Given the description of an element on the screen output the (x, y) to click on. 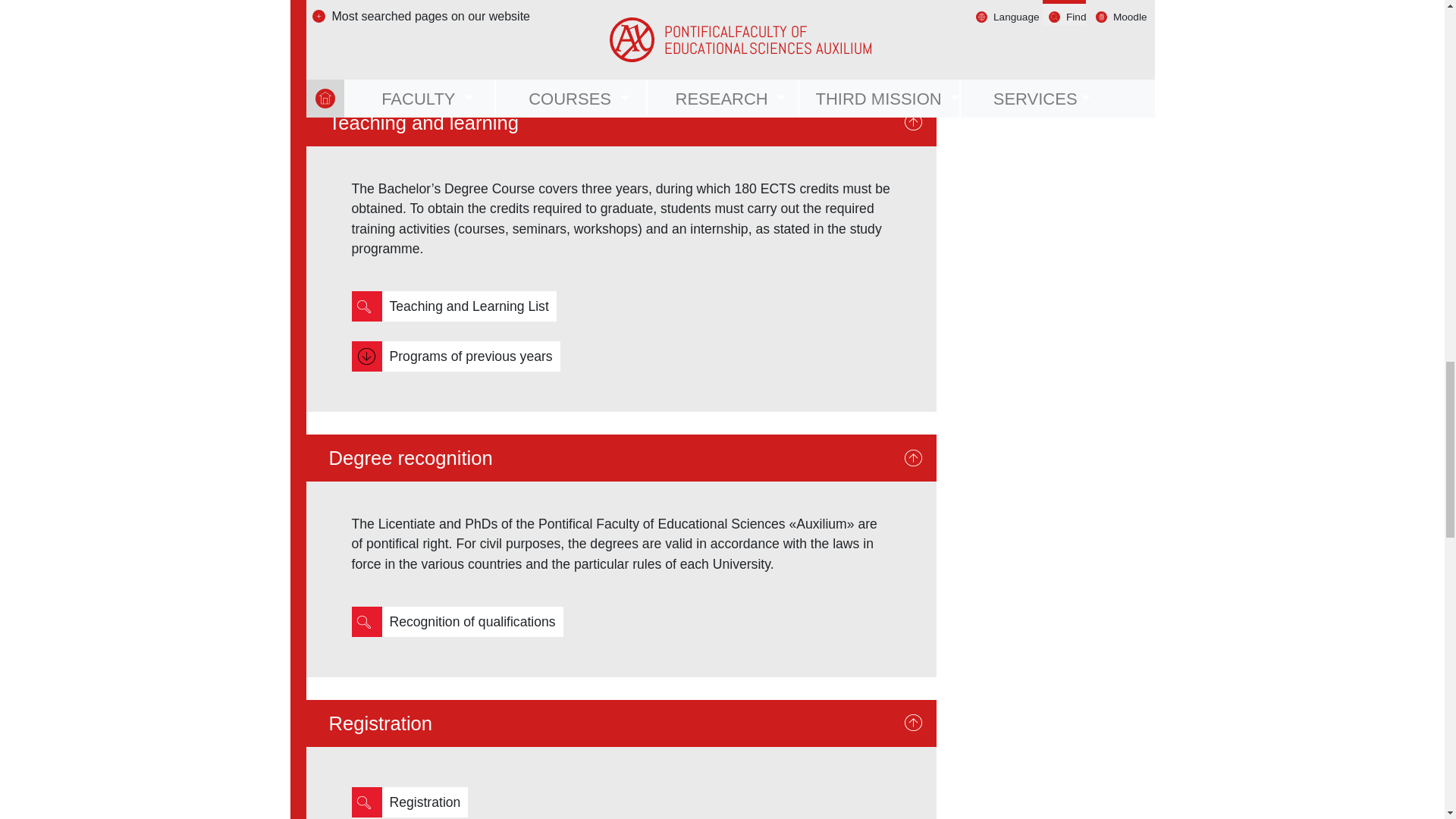
Programs of previous years (470, 355)
Registration (424, 801)
 How to achieve secular recognition of qualifications (472, 621)
Teaching and Learning List (468, 305)
